Given the description of an element on the screen output the (x, y) to click on. 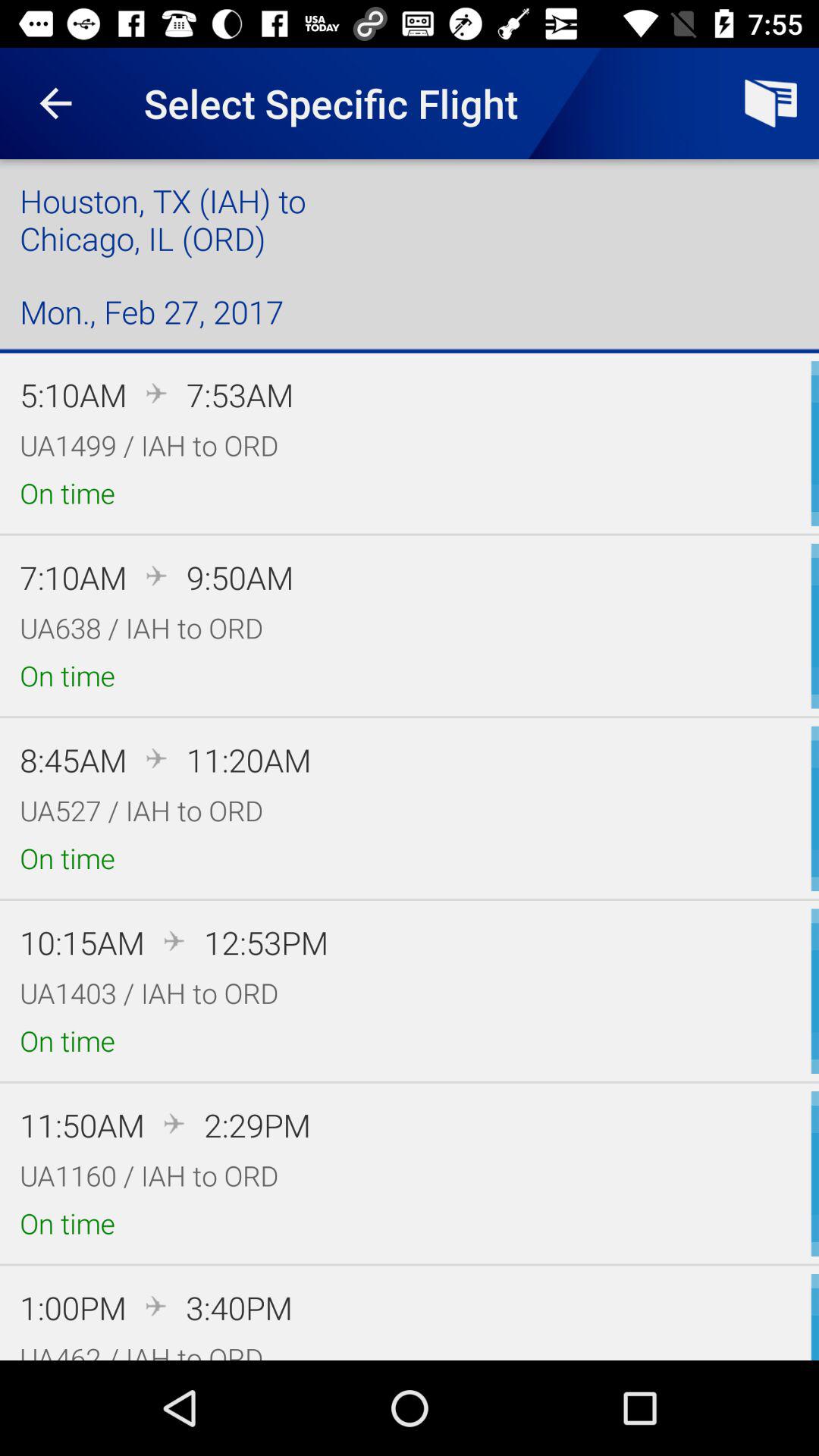
turn on item above the ua1403 iah to (81, 942)
